Given the description of an element on the screen output the (x, y) to click on. 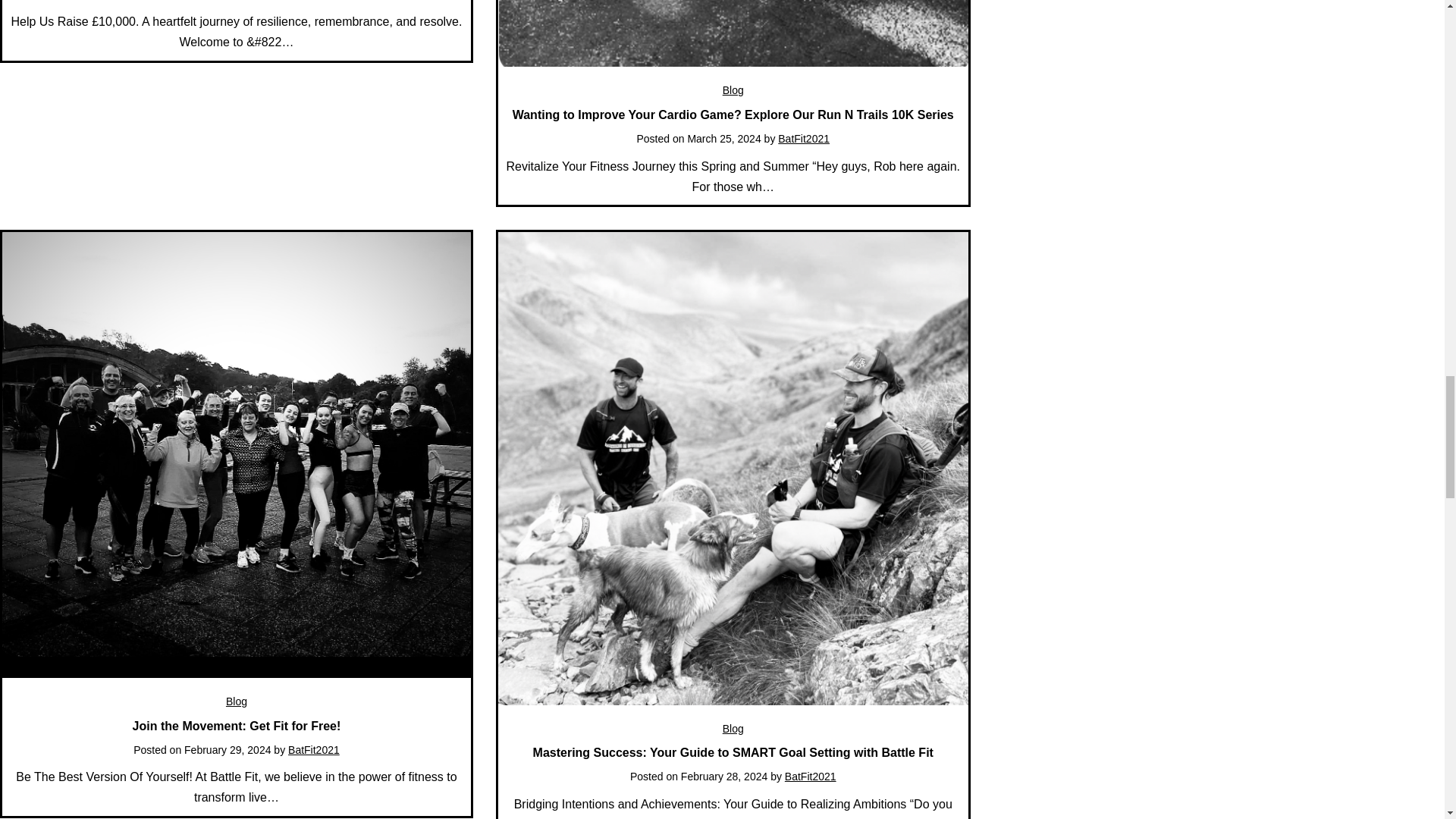
Blog (733, 90)
BatFit2021 (809, 776)
BatFit2021 (803, 138)
Blog (733, 728)
Blog (236, 701)
Join the Movement: Get Fit for Free! (236, 725)
BatFit2021 (313, 748)
